Given the description of an element on the screen output the (x, y) to click on. 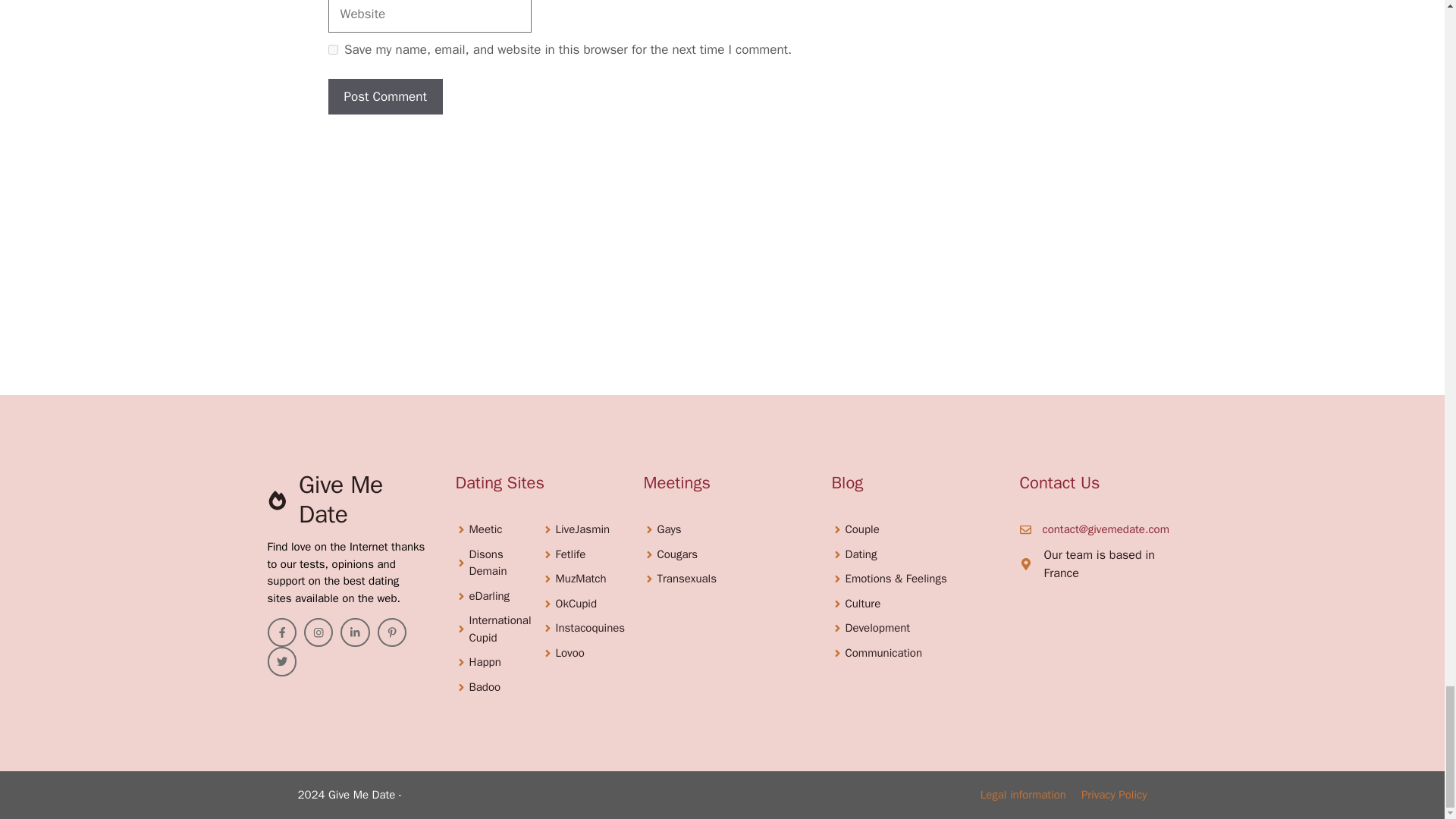
Post Comment (384, 96)
yes (332, 49)
